Given the description of an element on the screen output the (x, y) to click on. 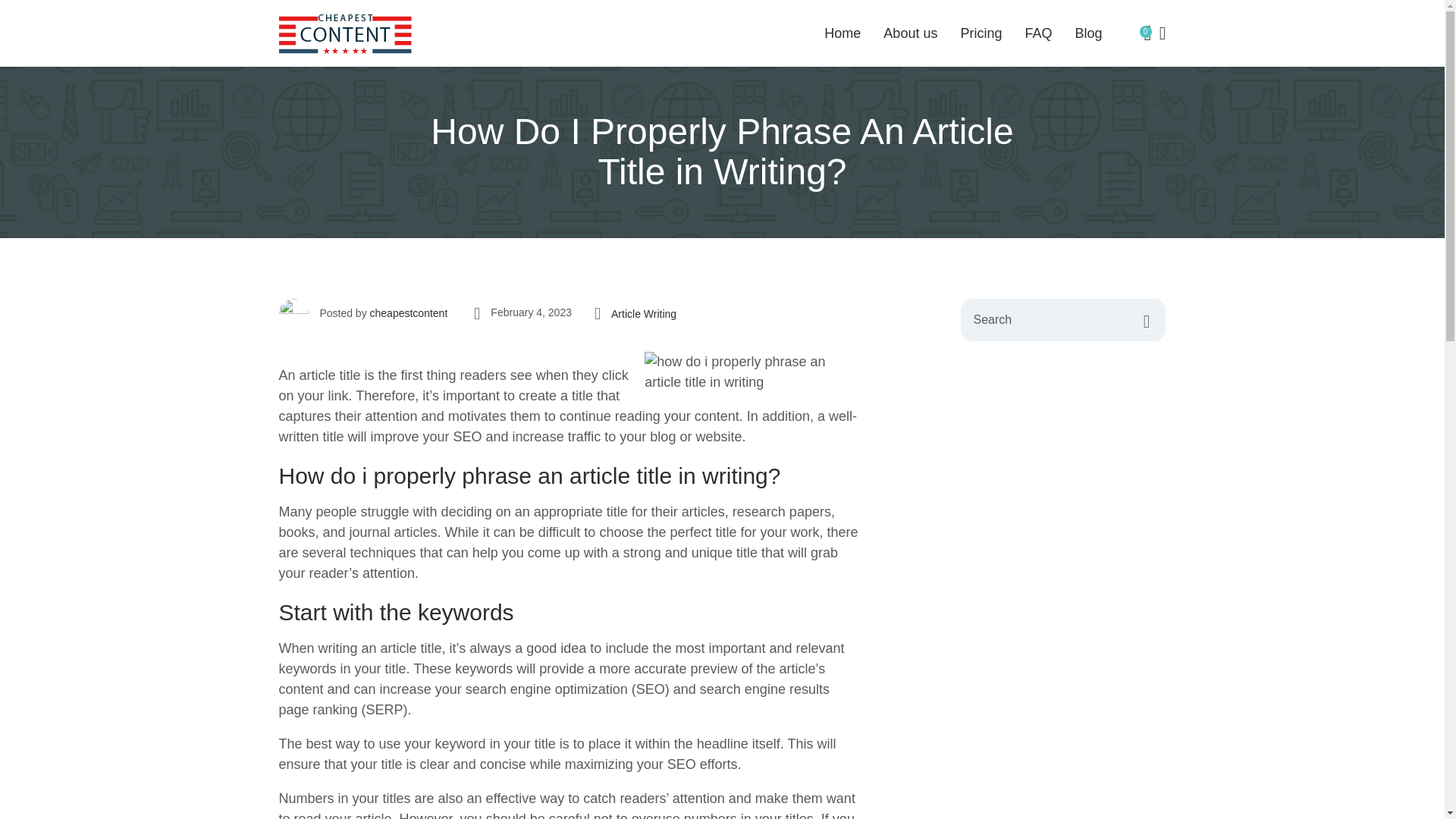
0 (1146, 33)
View your shopping cart (1146, 33)
Article Writing (644, 314)
Pricing (722, 33)
Home (980, 33)
Blog (842, 33)
cheapestcontent (1088, 33)
About us (408, 313)
FAQ (910, 33)
cheapestcontent (1038, 33)
